Given the description of an element on the screen output the (x, y) to click on. 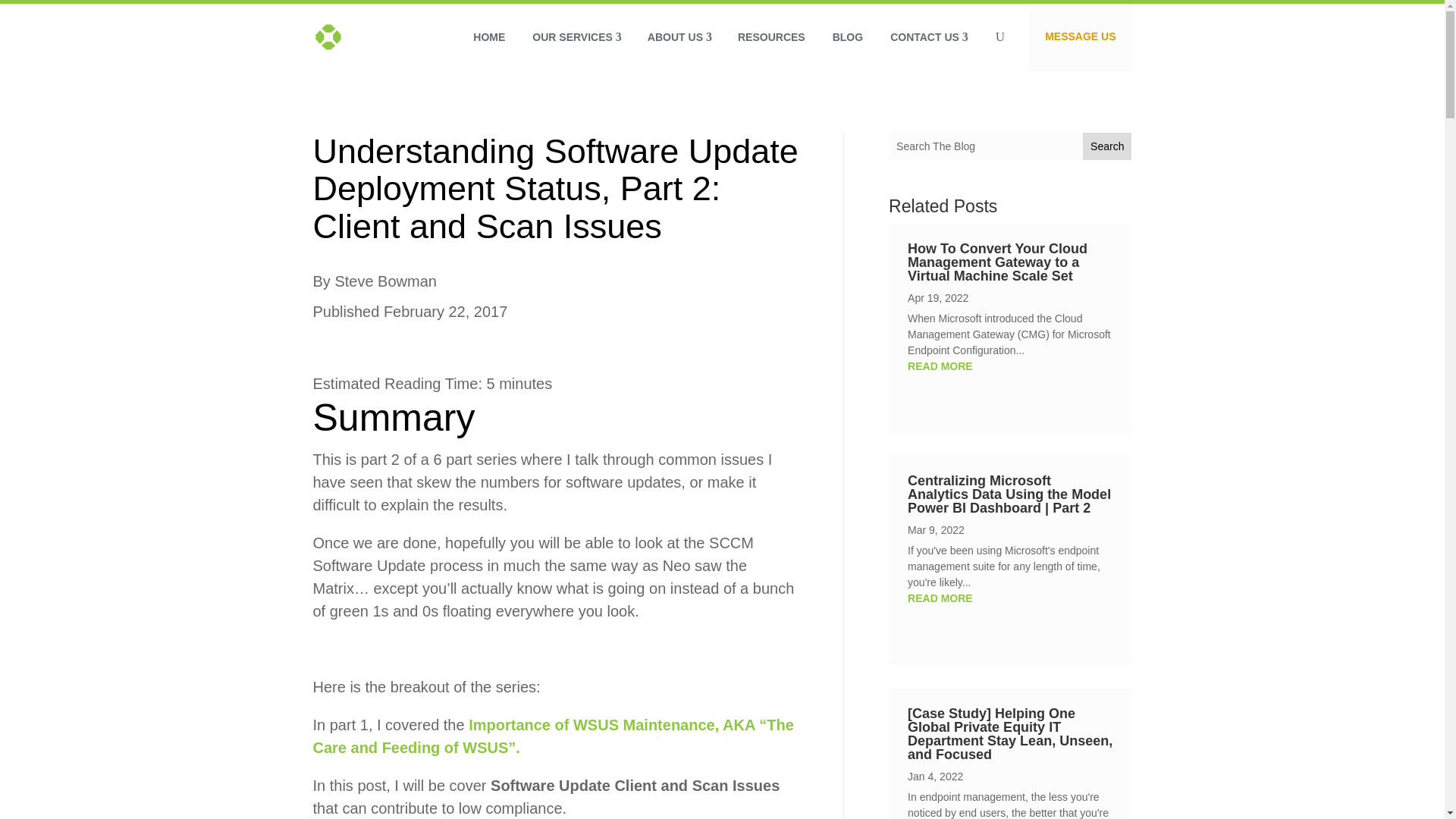
Search (1107, 145)
OUR SERVICES (575, 37)
CONTACT US (927, 37)
RESOURCES (770, 37)
ABOUT US (678, 37)
Search (1107, 145)
READ MORE (1009, 598)
READ MORE (1009, 366)
MESSAGE US (1080, 37)
